Given the description of an element on the screen output the (x, y) to click on. 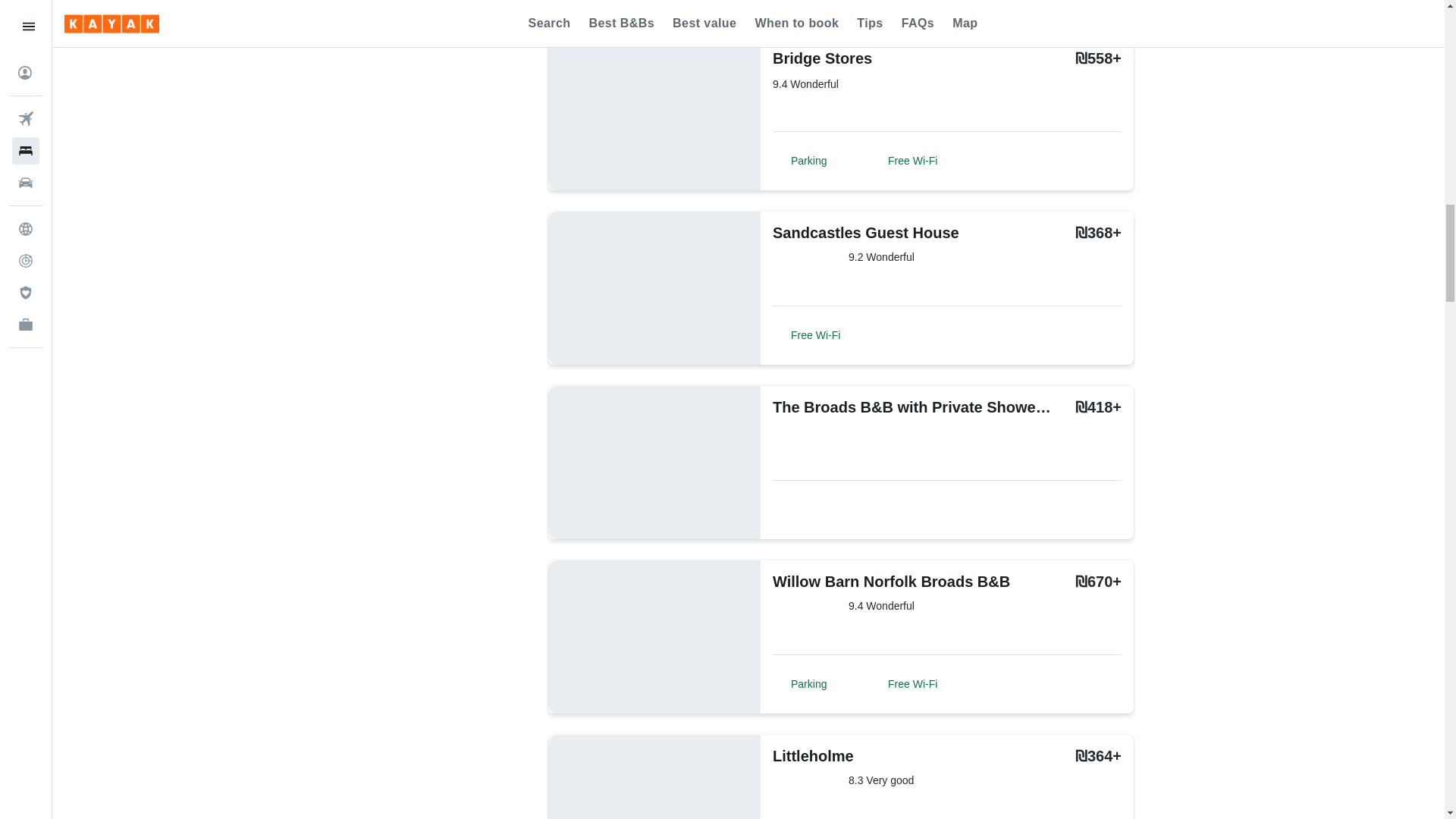
Littleholme (860, 755)
Bridge Stores (860, 58)
Sandcastles Guest House (866, 232)
